Given the description of an element on the screen output the (x, y) to click on. 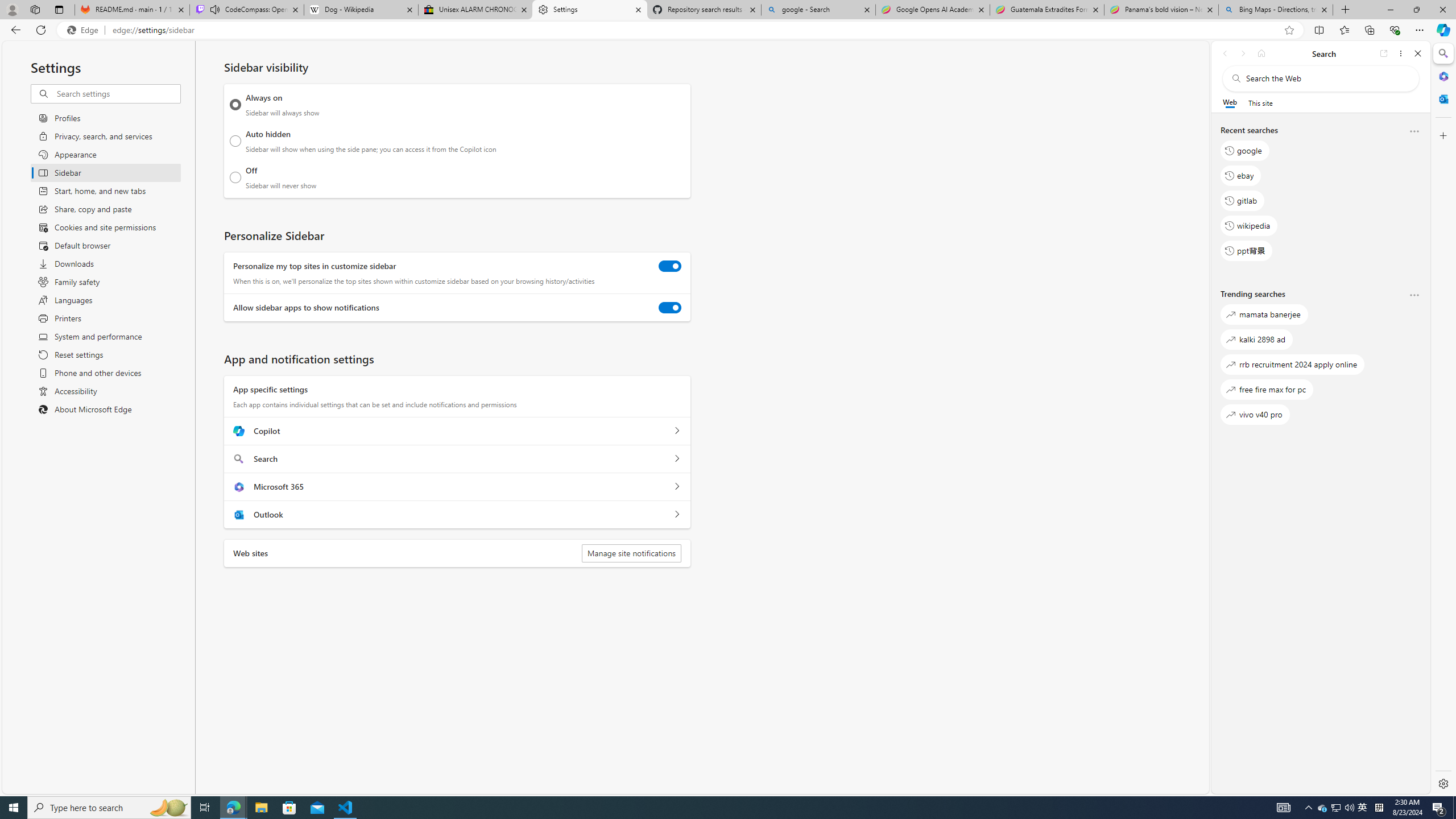
kalki 2898 ad (1256, 339)
vivo v40 pro (1255, 414)
